Given the description of an element on the screen output the (x, y) to click on. 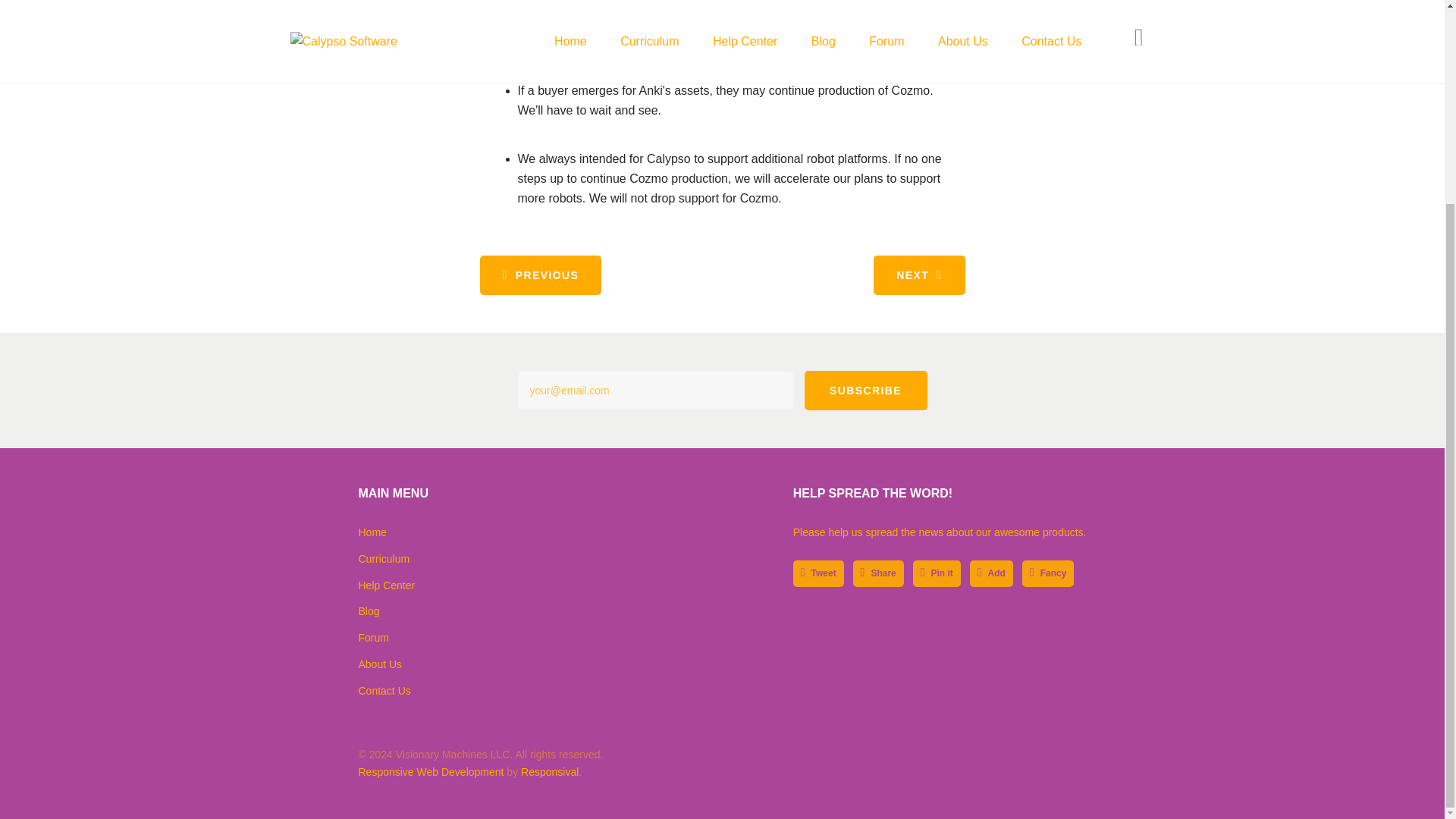
Share (878, 573)
Contact Us (384, 689)
About Us (379, 664)
Pin it (936, 573)
Subscribe (864, 390)
Curriculum (383, 558)
Subscribe (864, 390)
Help Center (386, 585)
Add (423, 2)
Forum (373, 637)
Responsive Web Development (430, 771)
Responsival (549, 771)
Tweet (818, 573)
Fancy (1048, 573)
NEXT (918, 274)
